Given the description of an element on the screen output the (x, y) to click on. 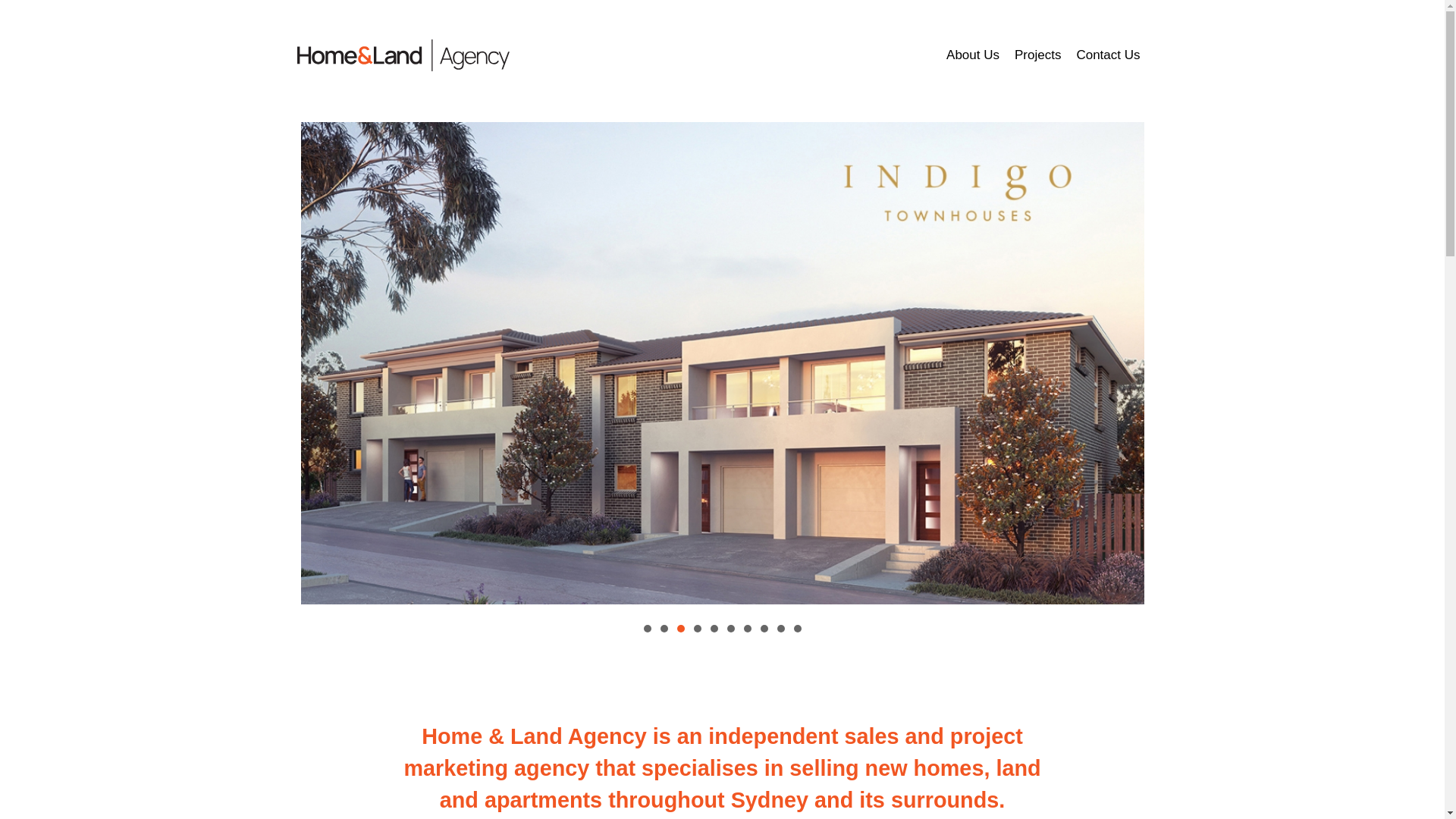
About Us Element type: text (972, 54)
Contact Us Element type: text (1107, 54)
Projects Element type: text (1037, 54)
